Given the description of an element on the screen output the (x, y) to click on. 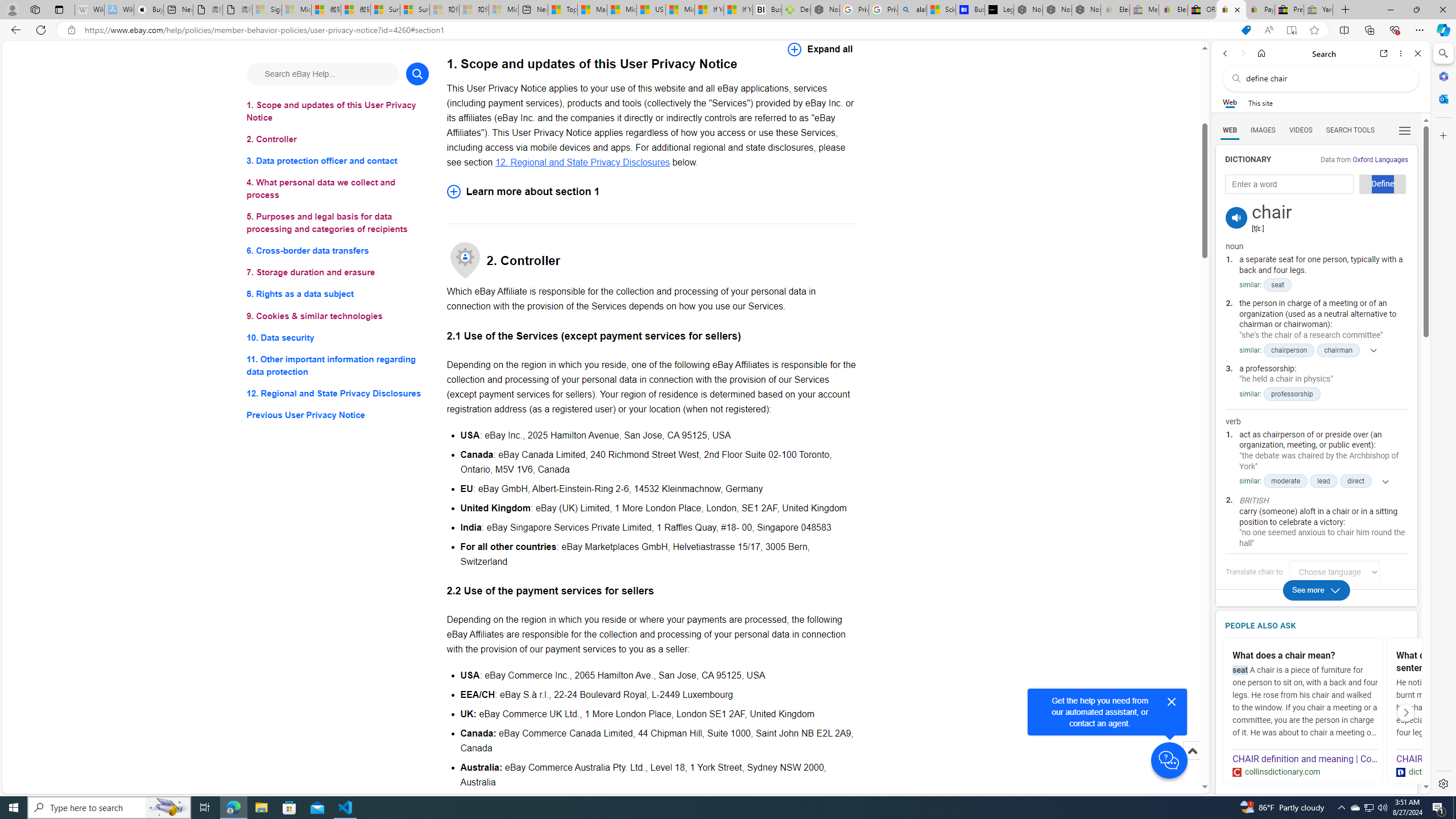
Oxford Languages (1379, 159)
Define (1382, 184)
Nordace - My Account (825, 9)
lead (1324, 481)
